Given the description of an element on the screen output the (x, y) to click on. 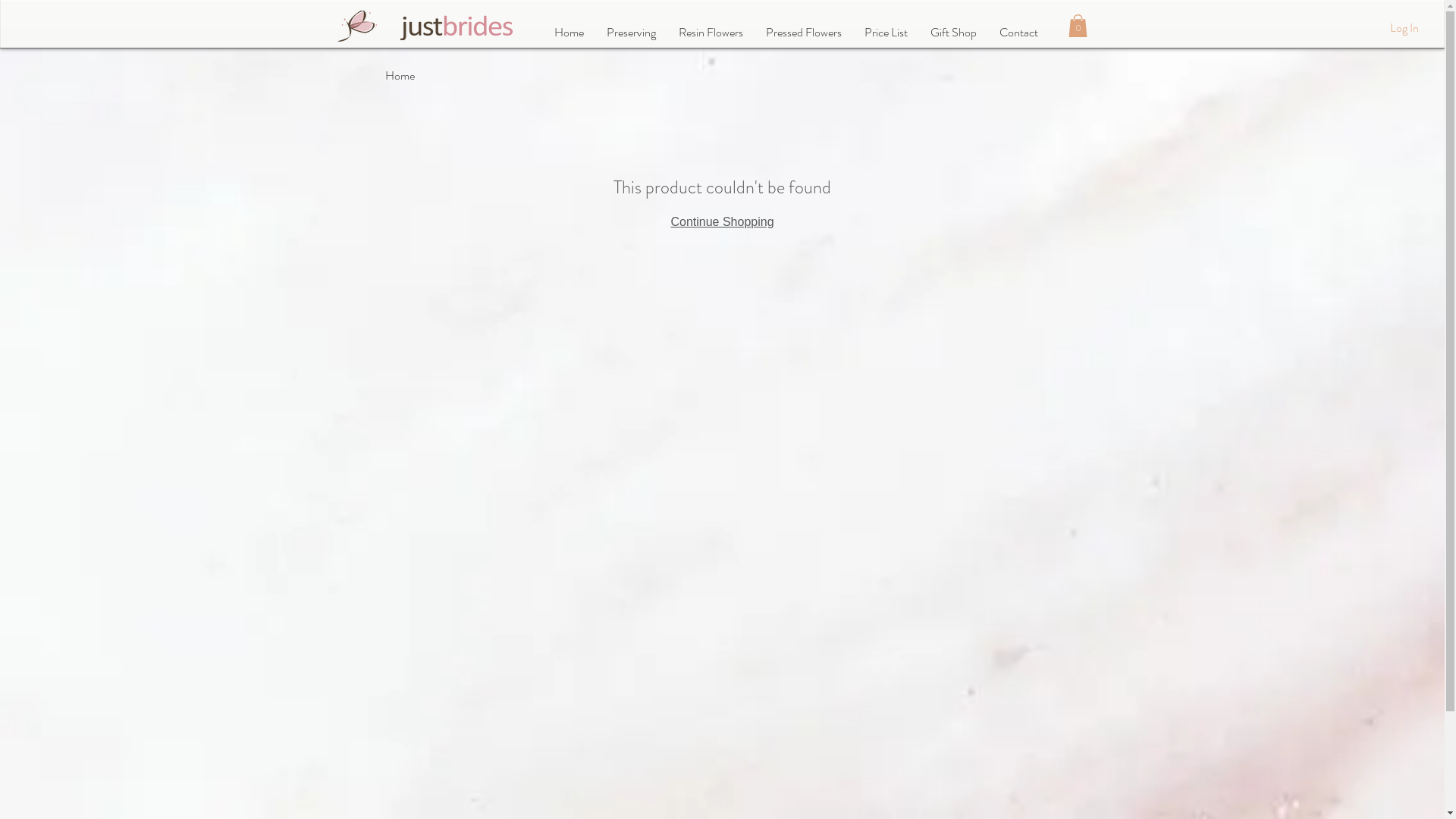
JUST_BRIDES_logo.png Element type: hover (456, 27)
Resin Flowers Element type: text (710, 32)
Gift Shop Element type: text (953, 32)
Contact Element type: text (1017, 32)
Pressed Flowers Element type: text (802, 32)
Preserving Element type: text (630, 32)
JUST_BRIDES_logo - Copy.png Element type: hover (358, 25)
Log In Element type: text (1404, 27)
Price List Element type: text (885, 32)
Continue Shopping Element type: text (721, 221)
Home Element type: text (399, 75)
Home Element type: text (568, 32)
0 Element type: text (1076, 25)
